Given the description of an element on the screen output the (x, y) to click on. 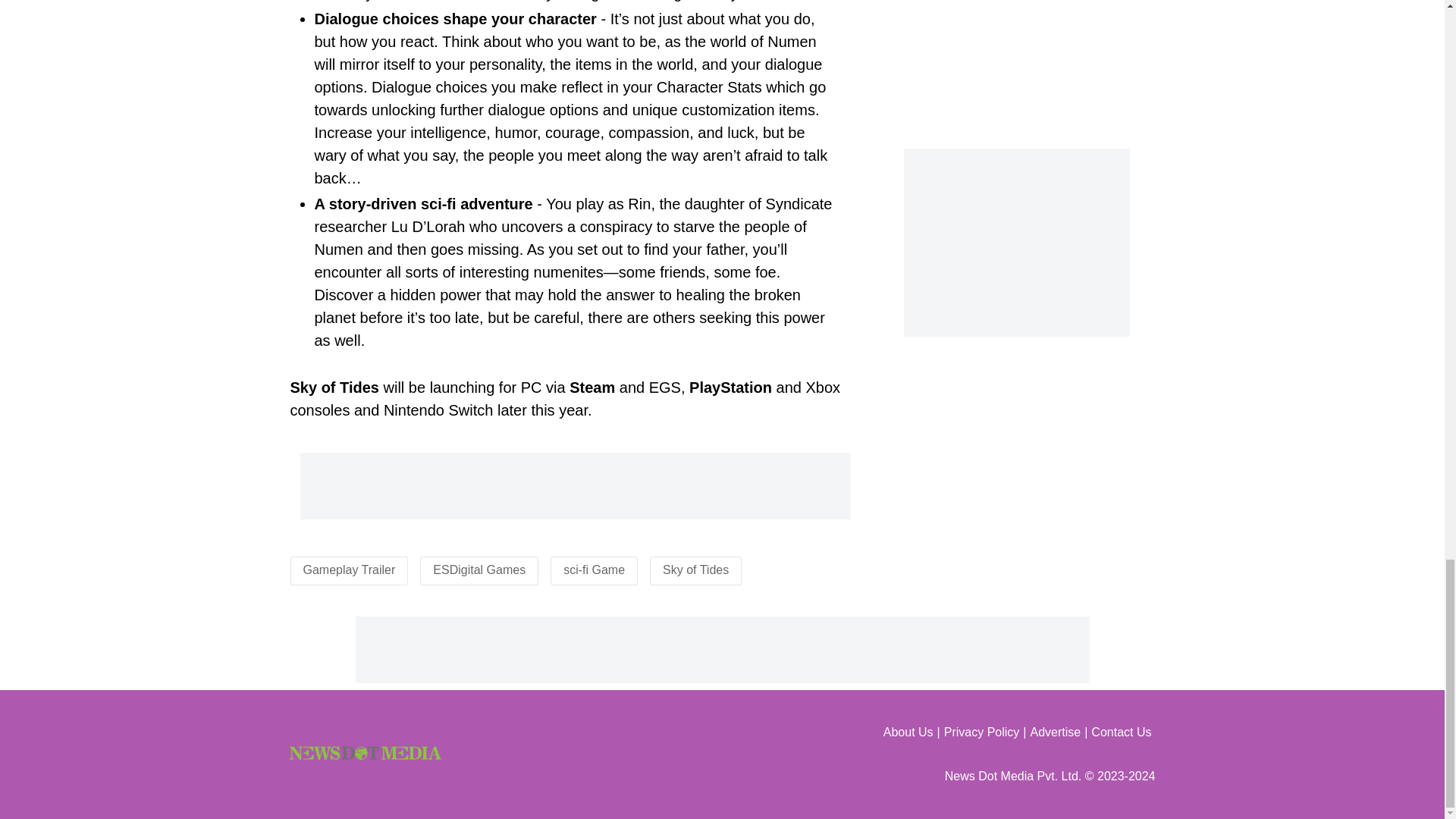
ESDigital Games (478, 569)
Contact Us (1122, 732)
Gameplay Trailer (349, 569)
sci-fi Game (593, 569)
Privacy Policy (986, 732)
About Us (913, 732)
Sky of Tides (695, 569)
Advertise (1059, 732)
